Given the description of an element on the screen output the (x, y) to click on. 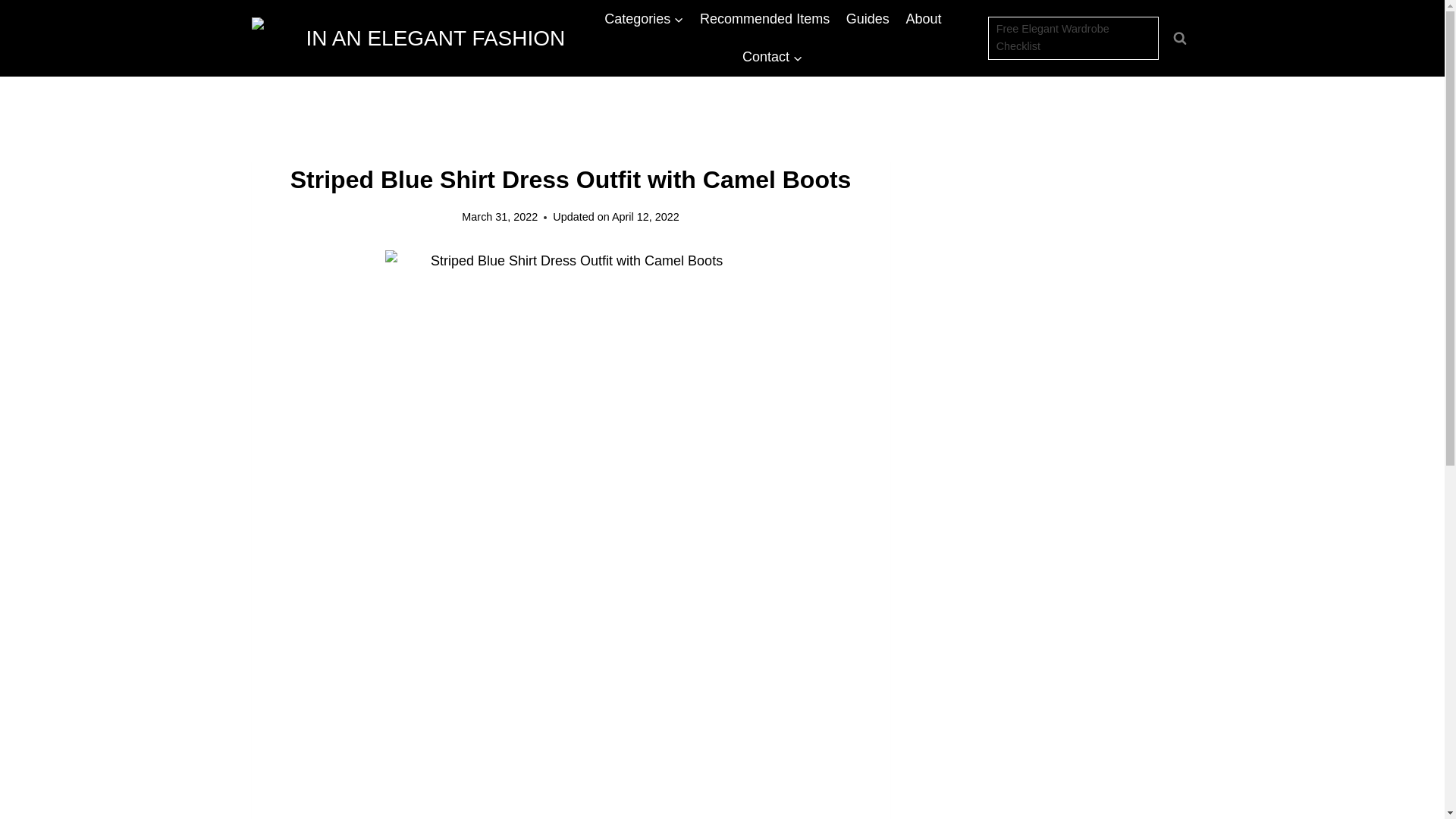
Categories (644, 18)
IN AN ELEGANT FASHION (408, 37)
